Given the description of an element on the screen output the (x, y) to click on. 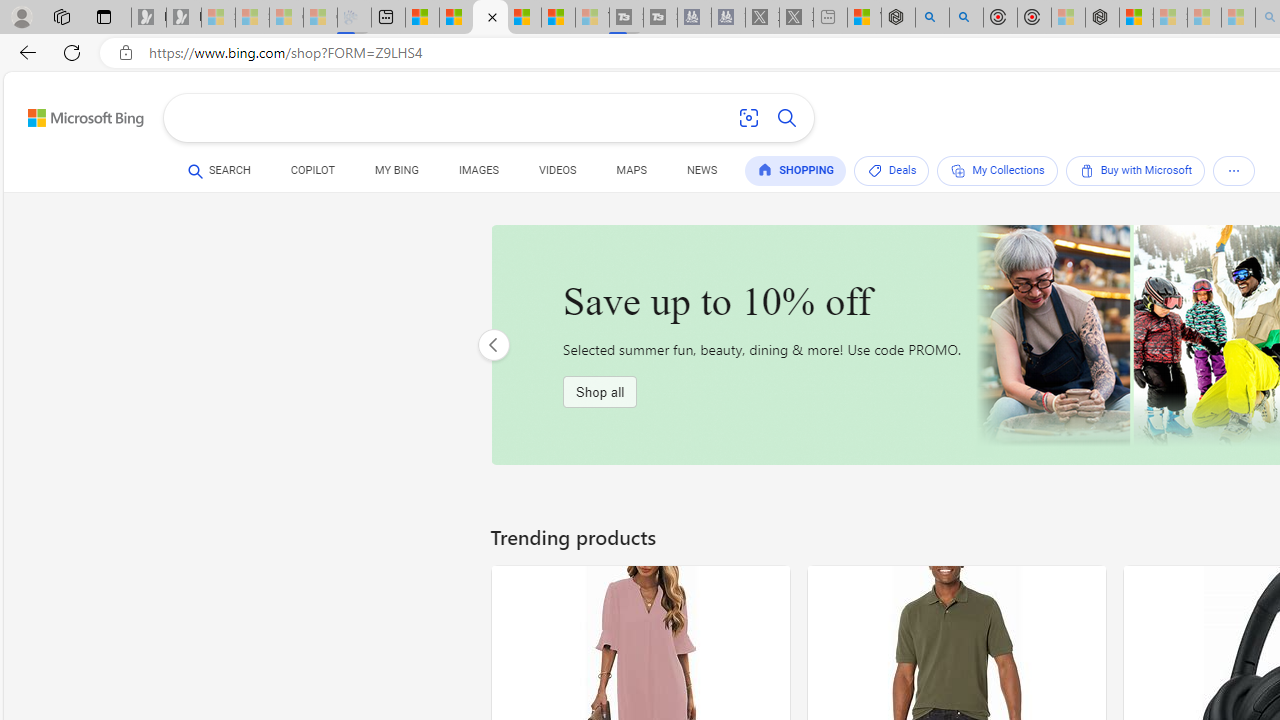
Newsletter Sign Up - Sleeping (183, 17)
SHOPPING (795, 170)
NEWS (701, 173)
poe ++ standard - Search (966, 17)
Workspaces (61, 16)
NEWS (701, 170)
Personal Profile (21, 16)
DealsMy CollectionsBuy with Microsoft (1058, 173)
Buy with Microsoft (1134, 170)
Click to scroll left (493, 344)
My Collections (997, 170)
SEARCH (219, 170)
